Given the description of an element on the screen output the (x, y) to click on. 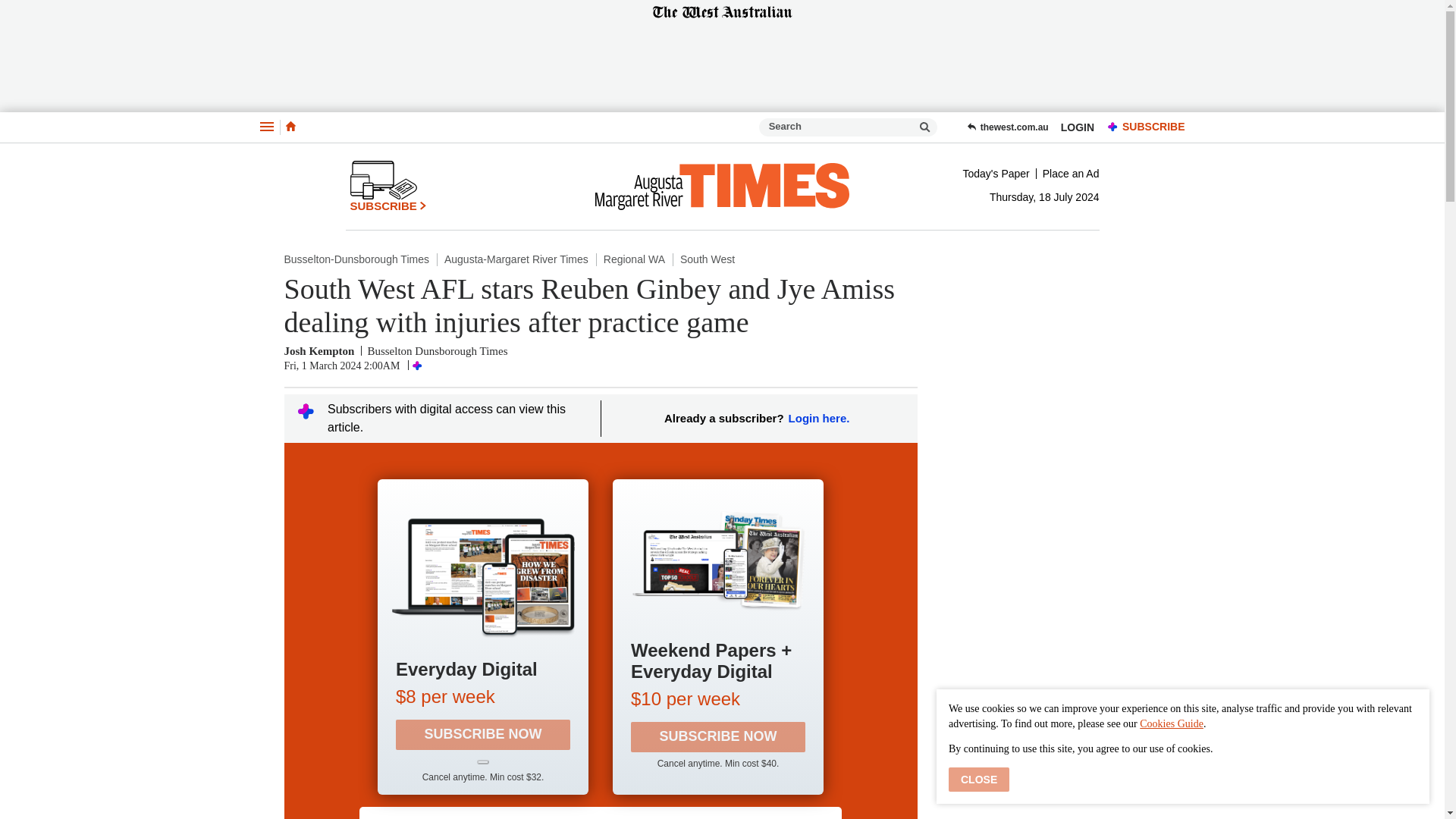
Home (290, 126)
PREMIUMSUBSCRIBE (1142, 127)
CHEVRON RIGHT ICON (423, 205)
LOGIN (1077, 127)
PREMIUM (1112, 126)
thewest.com.au (1007, 127)
Please enter a search term. (924, 127)
SUBSCRIBE CHEVRON RIGHT ICON (388, 185)
Home (290, 126)
Menu (266, 126)
